Given the description of an element on the screen output the (x, y) to click on. 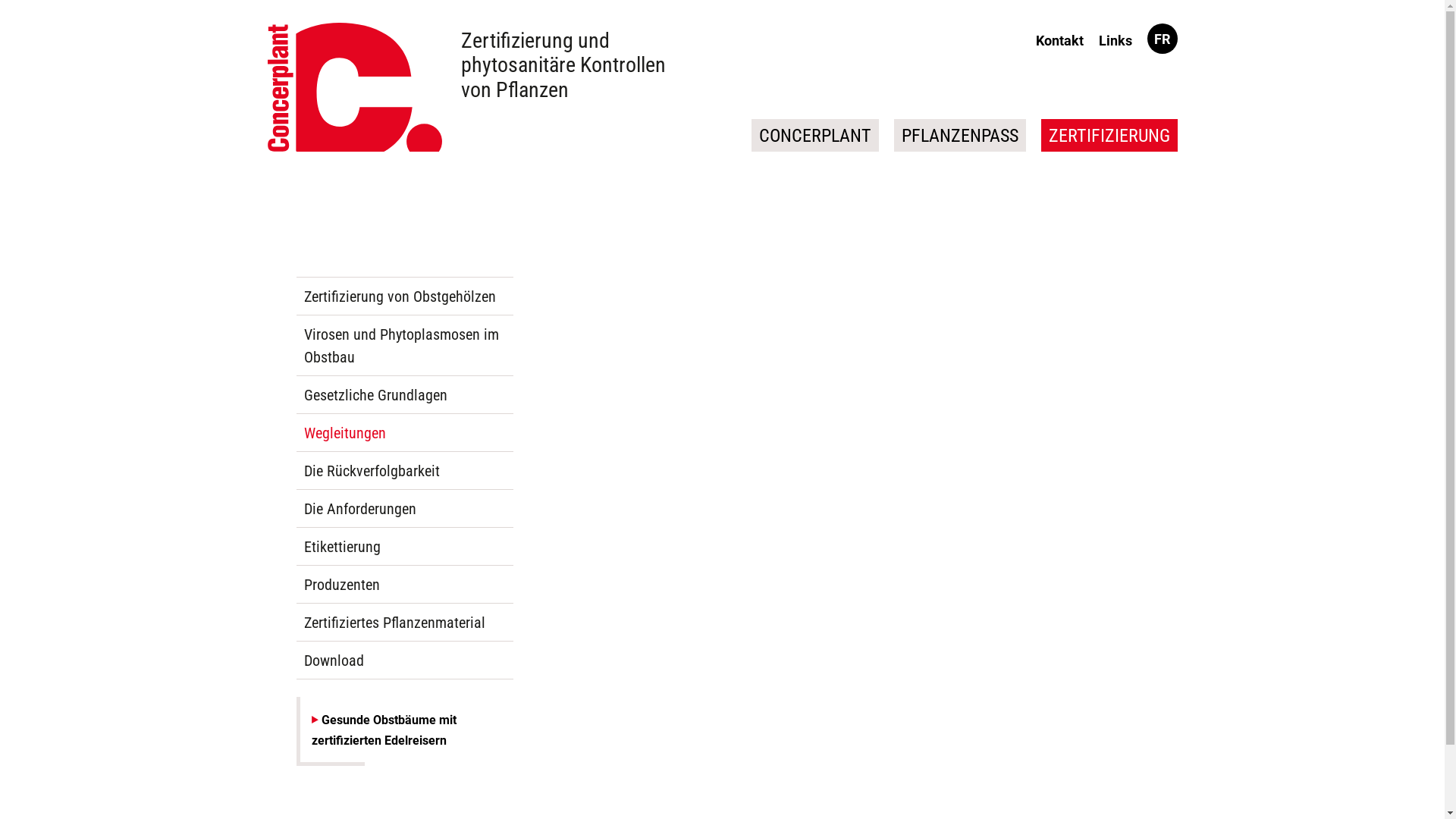
Produzenten Element type: text (403, 584)
Wegleitungen Element type: text (403, 432)
ZERTIFIZIERUNG Element type: text (1108, 135)
Zertifiziertes Pflanzenmaterial Element type: text (403, 622)
Die Anforderungen Element type: text (403, 508)
Links Element type: text (1114, 40)
Kontakt Element type: text (1059, 40)
Zur Startseite Element type: hover (353, 86)
Download Element type: text (403, 660)
FR Element type: text (1161, 39)
Virosen und Phytoplasmosen im Obstbau Element type: text (403, 345)
PFLANZENPASS Element type: text (959, 135)
Etikettierung Element type: text (403, 546)
Gesetzliche Grundlagen Element type: text (403, 395)
CONCERPLANT Element type: text (814, 135)
